Given the description of an element on the screen output the (x, y) to click on. 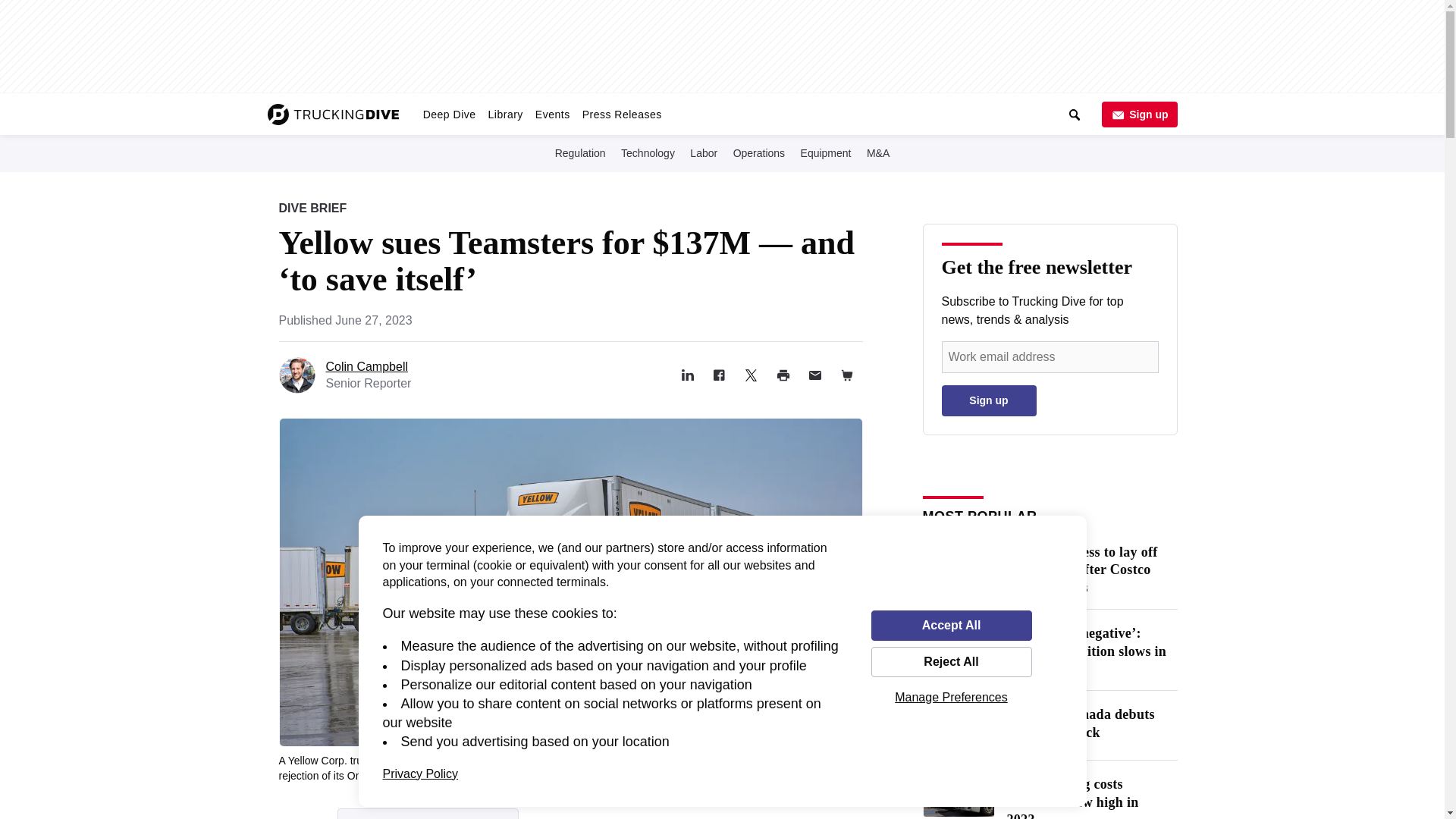
Library (505, 114)
Equipment (825, 152)
Manage Preferences (950, 697)
Colin Campbell (367, 366)
Sign up (1138, 114)
Press Releases (622, 114)
Events (552, 114)
Operations (758, 152)
Privacy Policy (419, 773)
Accept All (950, 625)
Labor (703, 152)
Reject All (950, 662)
Deep Dive (427, 813)
Regulation (448, 114)
